Given the description of an element on the screen output the (x, y) to click on. 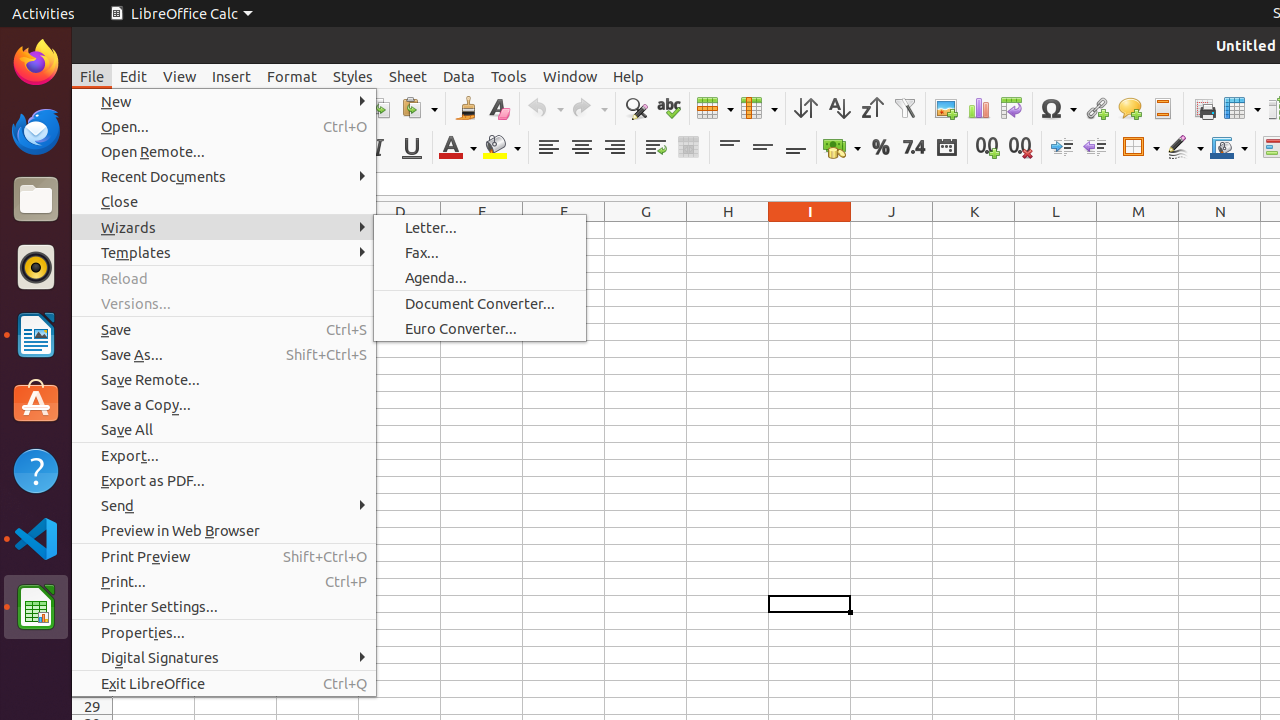
Digital Signatures Element type: menu (224, 657)
Open... Element type: menu-item (224, 126)
Redo Element type: push-button (589, 108)
Save All Element type: menu-item (224, 429)
